Given the description of an element on the screen output the (x, y) to click on. 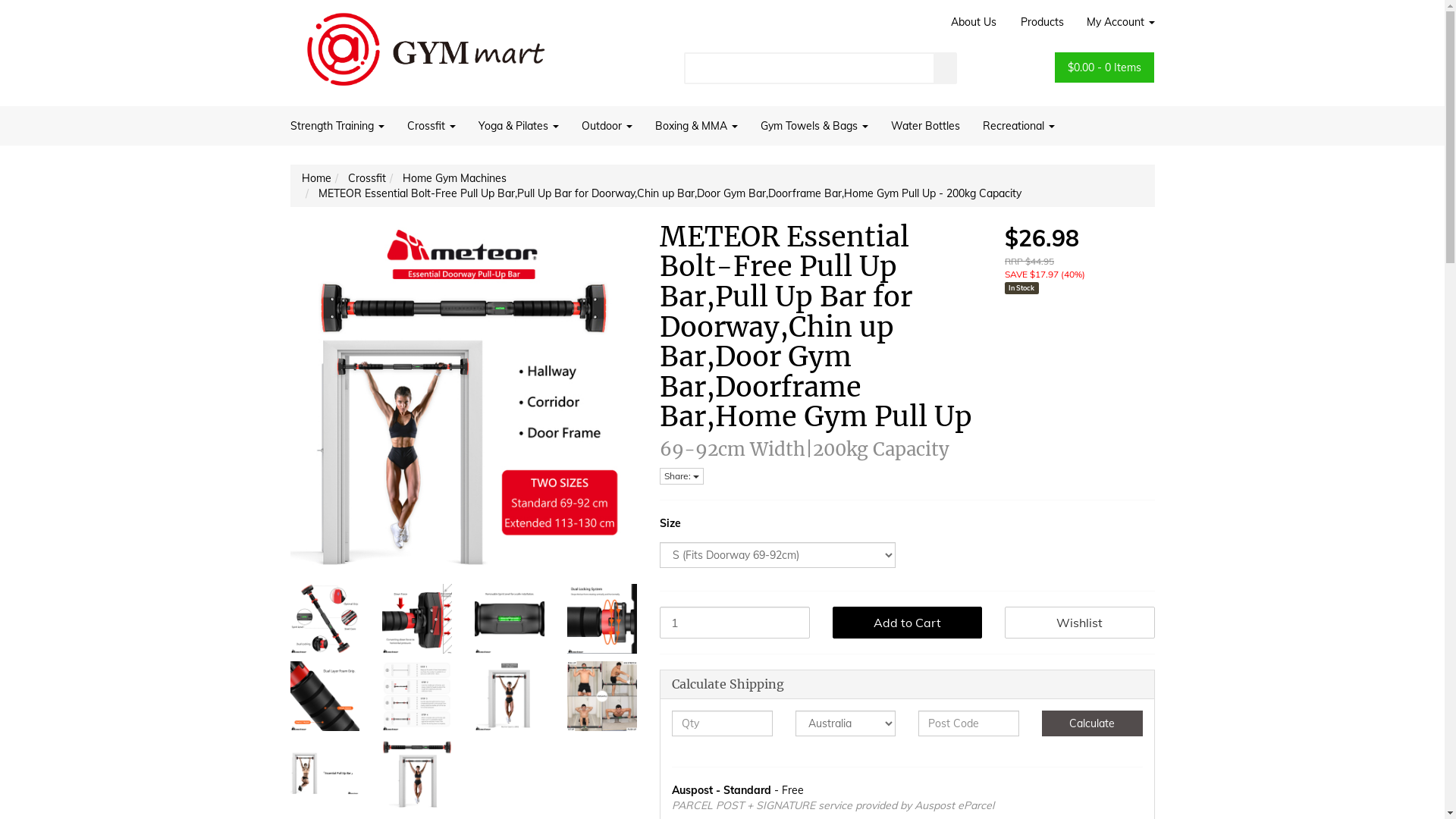
About Us Element type: text (972, 21)
Large View Element type: hover (324, 773)
Crossfit Element type: text (366, 178)
Yoga & Pilates Element type: text (518, 125)
Large View Element type: hover (602, 696)
Calculate Element type: text (1091, 723)
Large View Element type: hover (416, 618)
Home Element type: text (316, 178)
Boxing & MMA Element type: text (695, 125)
Large View Element type: hover (416, 696)
Strength Training Element type: text (342, 125)
Crossfit Element type: text (431, 125)
GYM MART Element type: hover (425, 43)
Home Gym Machines Element type: text (453, 178)
Gym Towels & Bags Element type: text (814, 125)
Large View Element type: hover (509, 618)
Add to Cart Element type: text (907, 622)
Large View Element type: hover (416, 773)
Search Element type: text (945, 68)
Water Bottles Element type: text (925, 125)
My Account Element type: text (1114, 21)
Outdoor Element type: text (606, 125)
Large View Element type: hover (324, 618)
Share: Element type: text (681, 475)
Large View Element type: hover (602, 618)
Wishlist Element type: text (1079, 622)
Large View Element type: hover (509, 696)
Recreational Element type: text (1017, 125)
$0.00 - 0 Items Element type: text (1104, 67)
Large View Element type: hover (324, 696)
Products Element type: text (1041, 21)
